Given the description of an element on the screen output the (x, y) to click on. 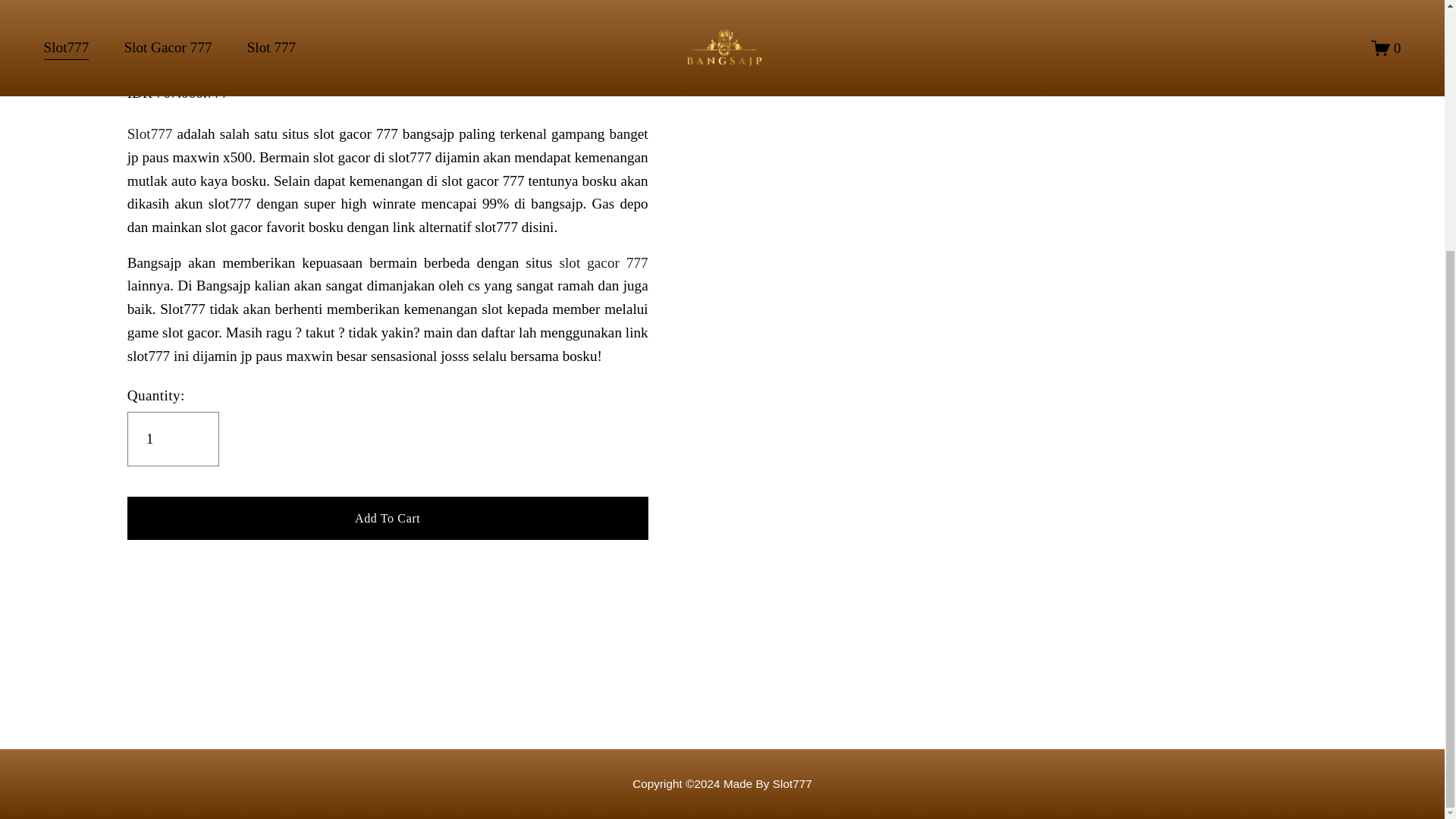
Slot777 (150, 133)
Add To Cart (387, 517)
slot gacor 777 (603, 262)
Slot777 (721, 783)
1 (173, 438)
